Given the description of an element on the screen output the (x, y) to click on. 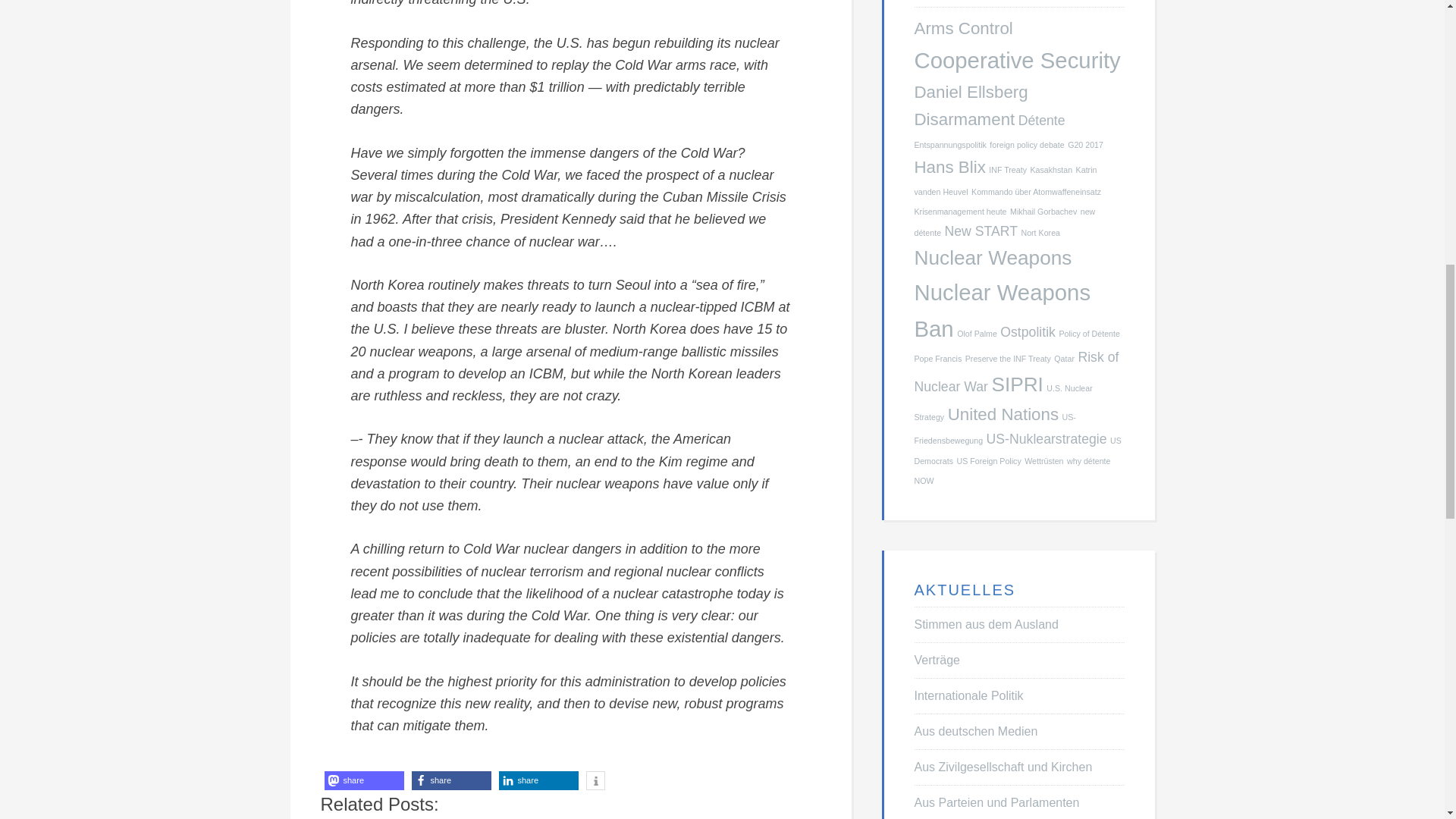
Share on Mastodon (364, 780)
Share on LinkedIn (538, 780)
Share on Facebook (450, 780)
share  (450, 780)
More information (594, 780)
share  (364, 780)
share  (538, 780)
